Given the description of an element on the screen output the (x, y) to click on. 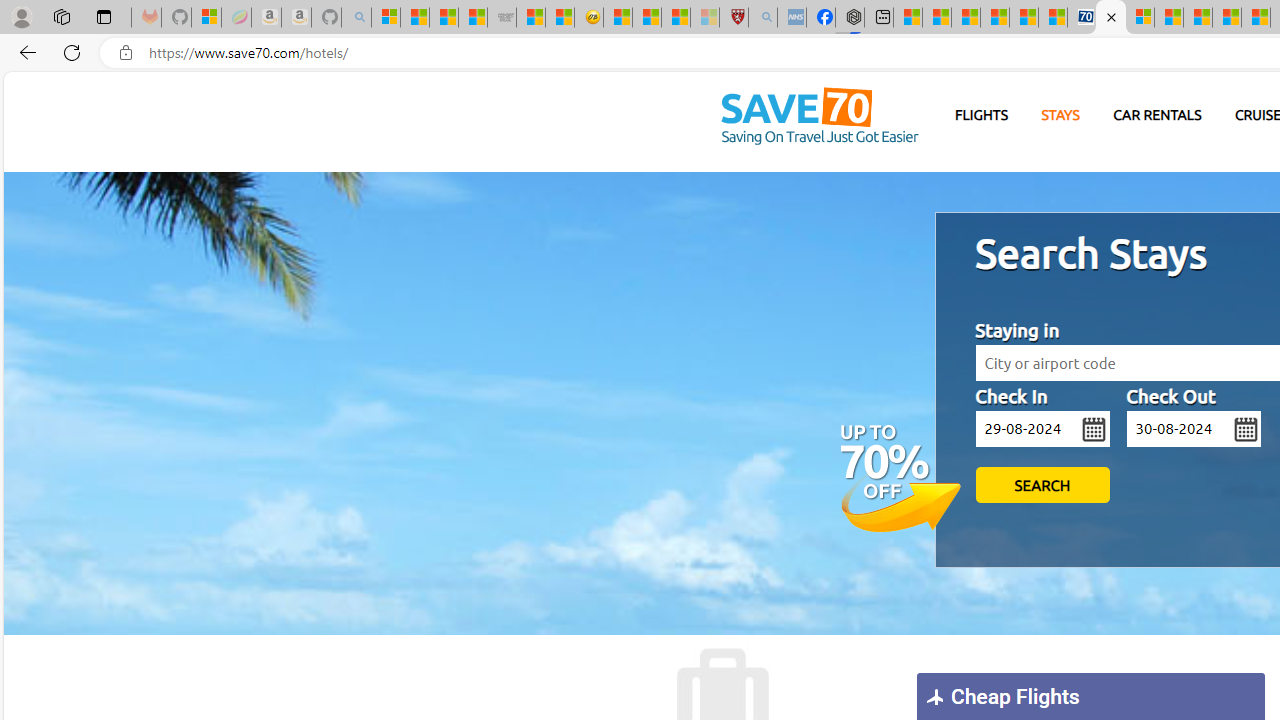
mm/dd/yy (1193, 429)
